Given the description of an element on the screen output the (x, y) to click on. 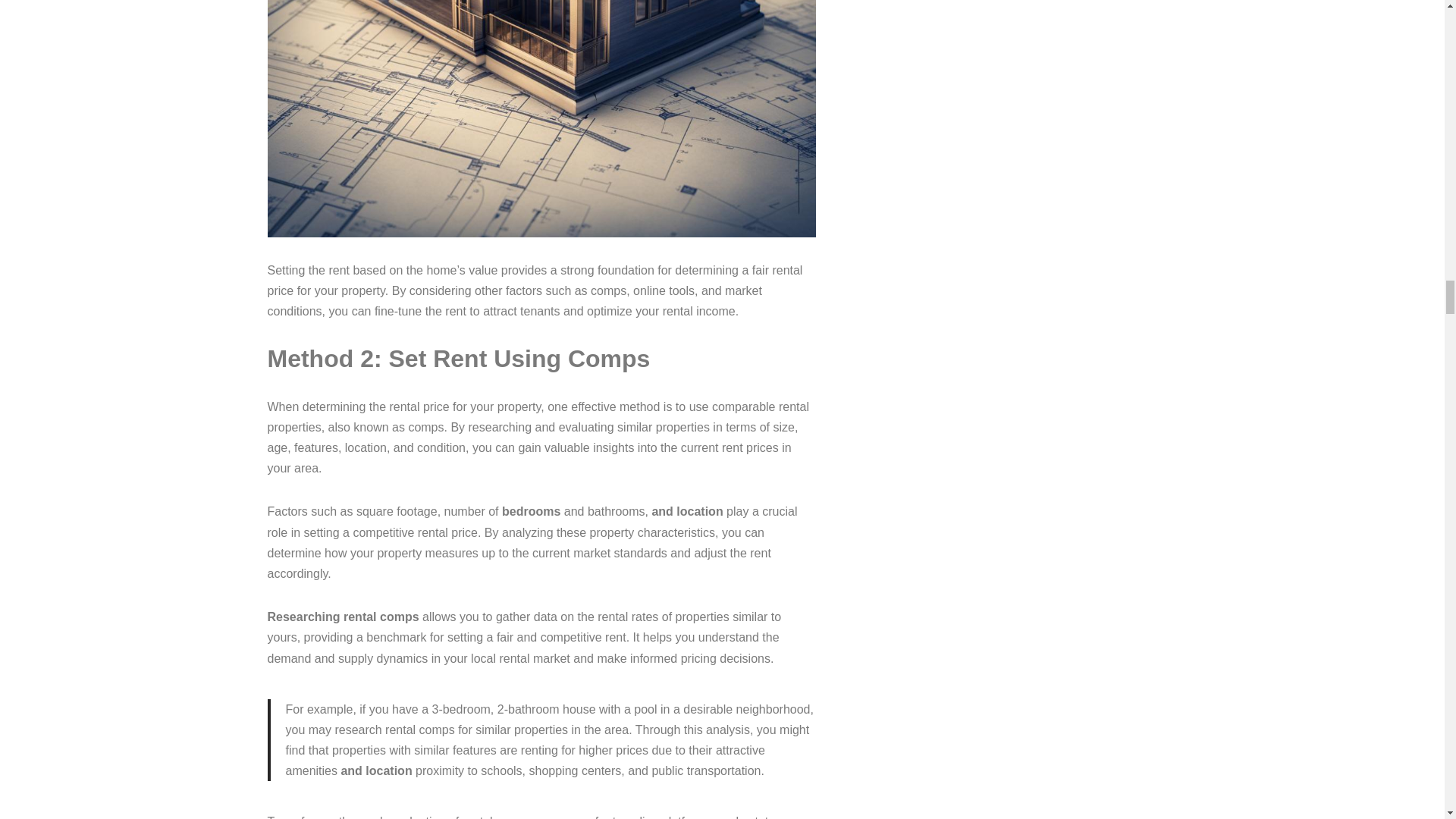
Keywords: setting rent based on home value (540, 118)
